Given the description of an element on the screen output the (x, y) to click on. 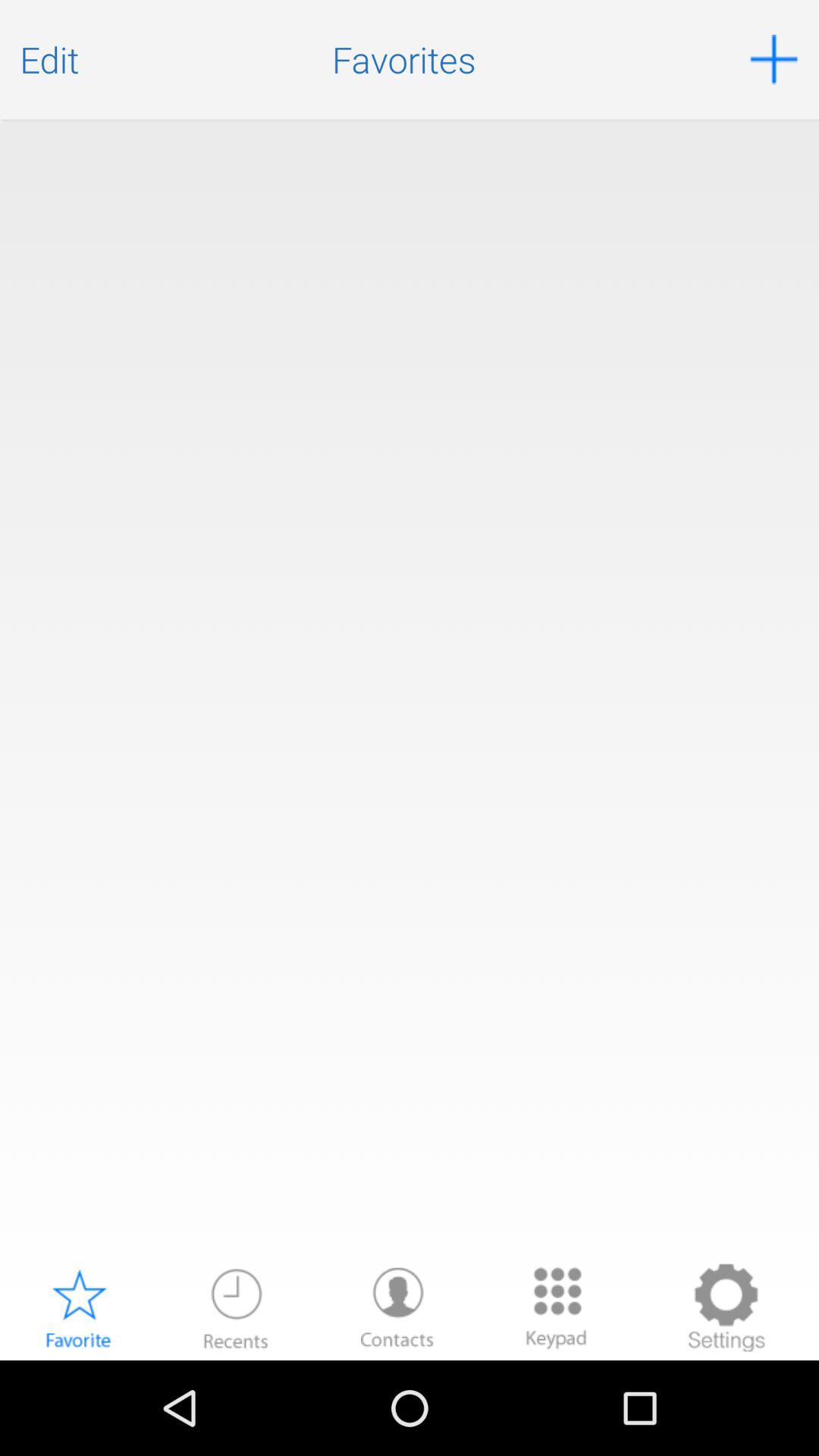
show recent (235, 1307)
